Given the description of an element on the screen output the (x, y) to click on. 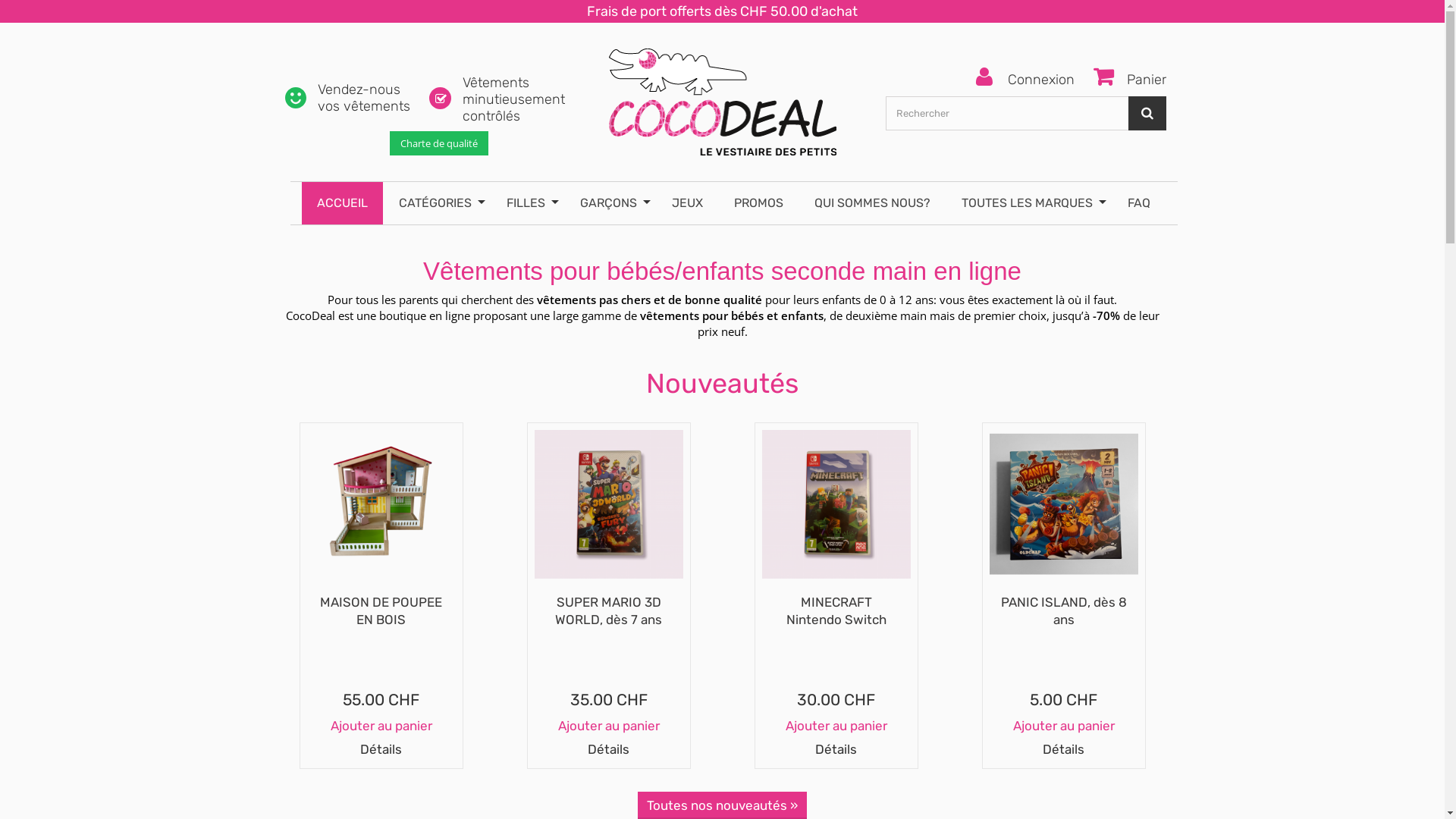
FAQ Element type: text (1137, 203)
ACCUEIL Element type: text (341, 203)
Panier Element type: text (1123, 77)
CocoDeal Element type: hover (721, 93)
QUI SOMMES NOUS? Element type: text (872, 203)
Connexion Element type: text (1024, 77)
Ajouter au panier Element type: text (381, 726)
Ajouter au panier Element type: text (1063, 726)
Ajouter au panier Element type: text (836, 726)
MAISON DE POUPEE EN BOIS Element type: text (381, 610)
FILLES Element type: text (527, 203)
TOUTES LES MARQUES Element type: text (1028, 203)
JEUX Element type: text (687, 203)
MAISON DE POUPEE EN BOIS Element type: hover (380, 530)
MINECRAFT Nintendo Switch Element type: hover (835, 530)
MINECRAFT Nintendo Switch Element type: hover (835, 503)
MAISON DE POUPEE EN BOIS Element type: hover (380, 503)
PROMOS Element type: text (758, 203)
MINECRAFT Nintendo Switch Element type: text (836, 610)
Ajouter au panier Element type: text (608, 726)
